Given the description of an element on the screen output the (x, y) to click on. 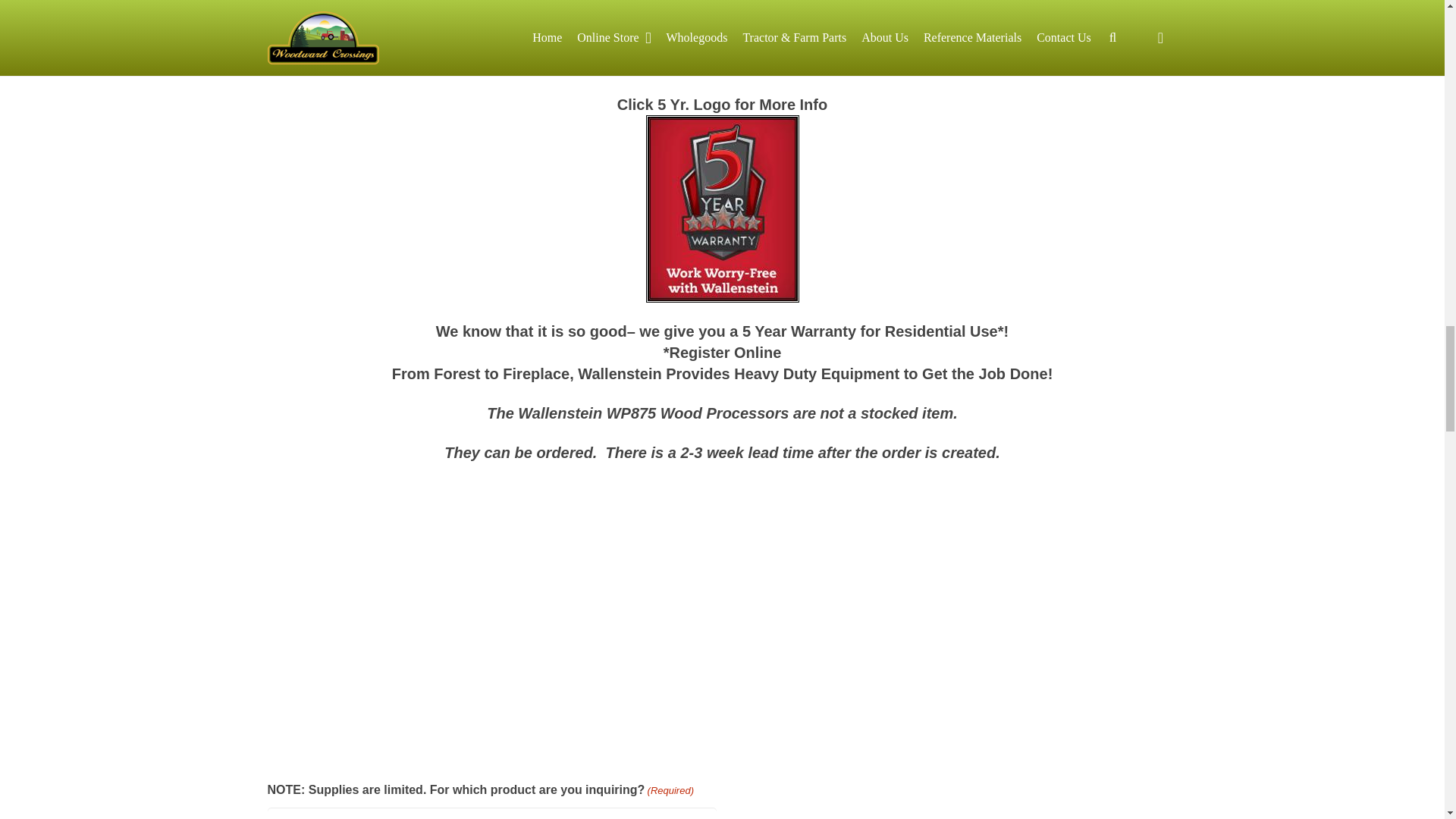
LXG Timber Talon Log Grapple (509, 617)
